Given the description of an element on the screen output the (x, y) to click on. 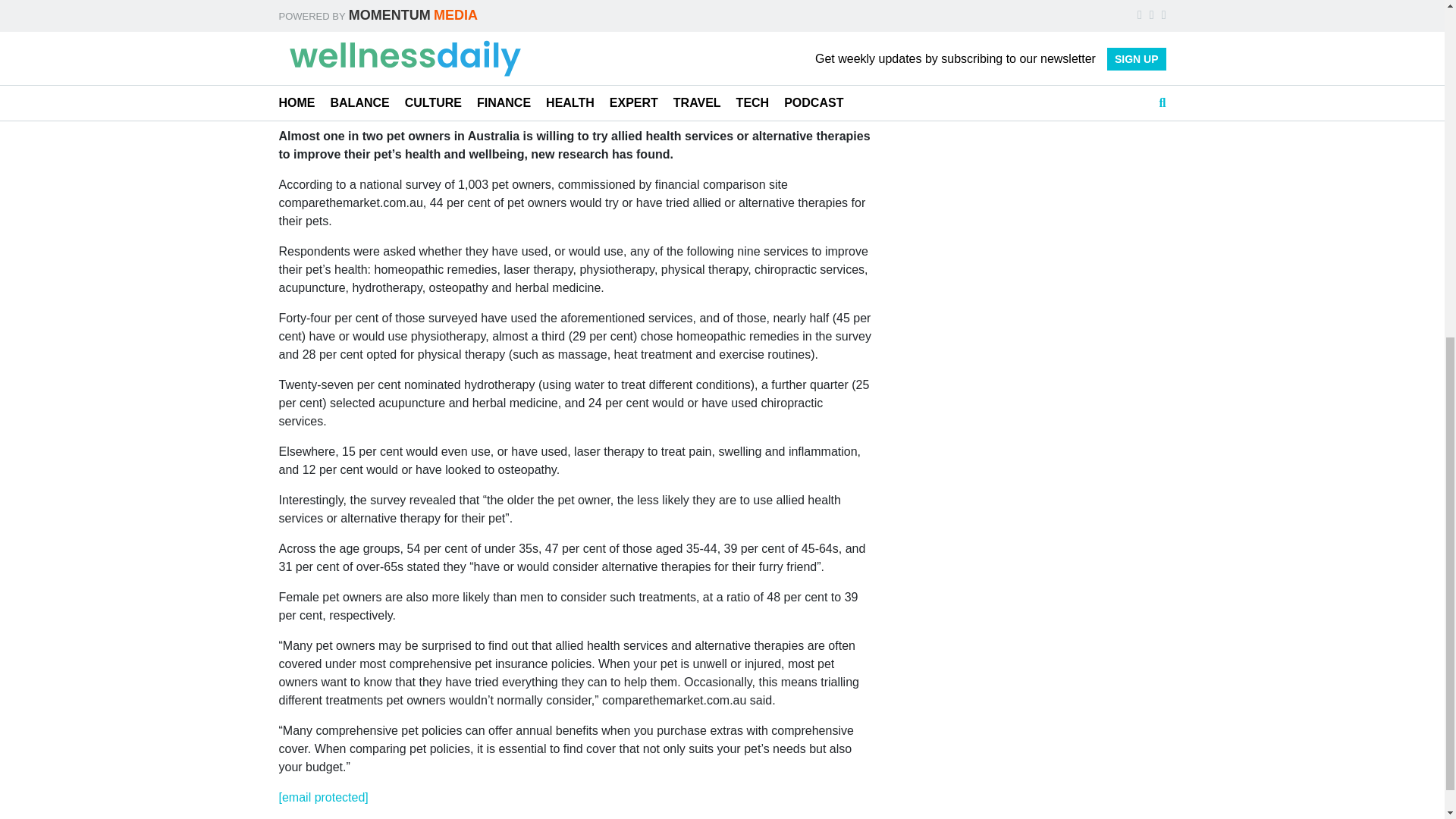
X (957, 44)
FACEBOOK (882, 44)
GOOGLEPLUS (1038, 44)
EMAIL (1131, 44)
